Given the description of an element on the screen output the (x, y) to click on. 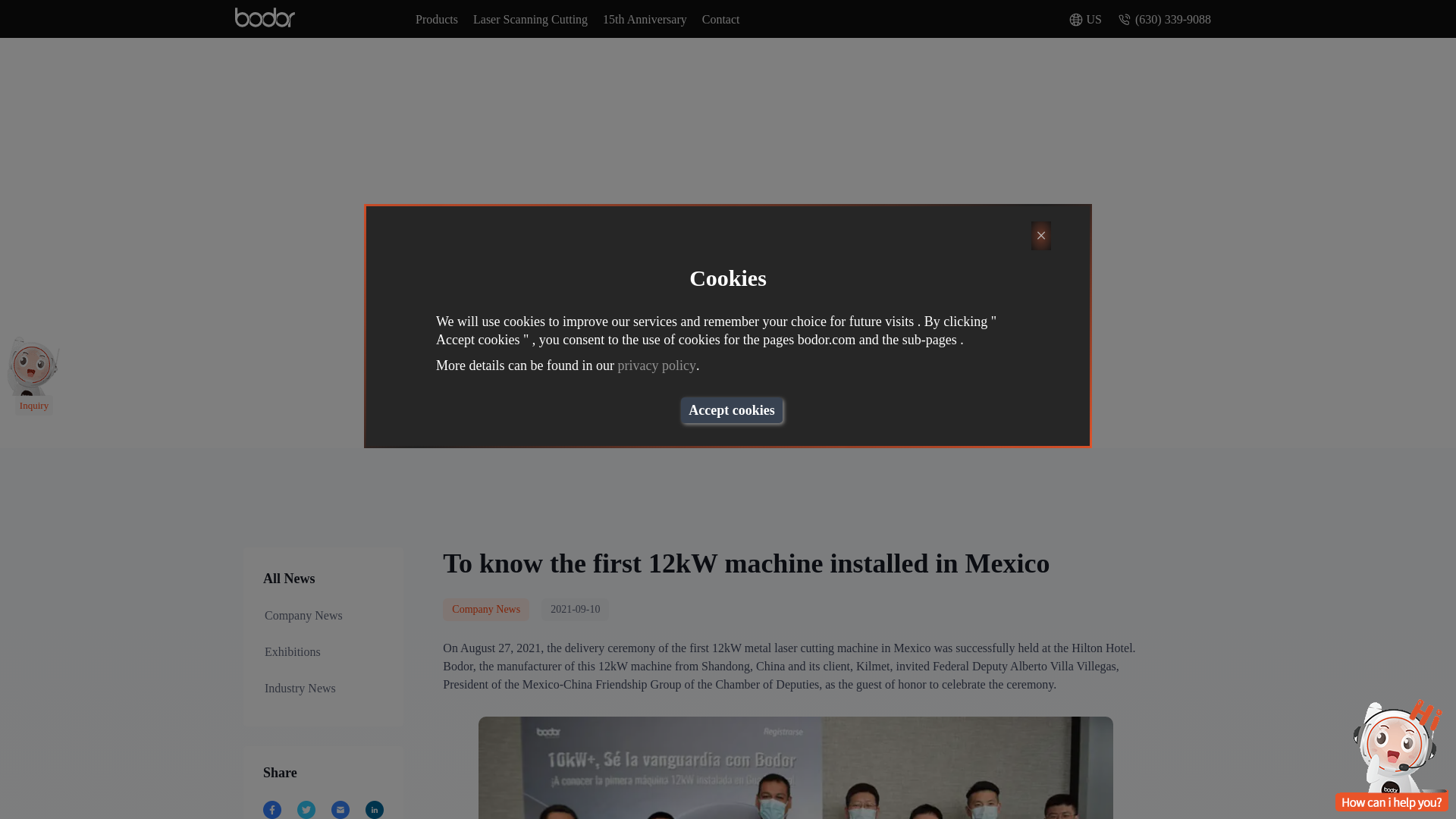
share to linkedin (374, 808)
share to facebook (272, 808)
share to email (340, 808)
15th Anniversary (644, 19)
Click to contact us (33, 404)
Laser Scanning Cutting (530, 19)
Contact (720, 19)
US (1085, 19)
share to twitter (306, 808)
Products (436, 19)
